Given the description of an element on the screen output the (x, y) to click on. 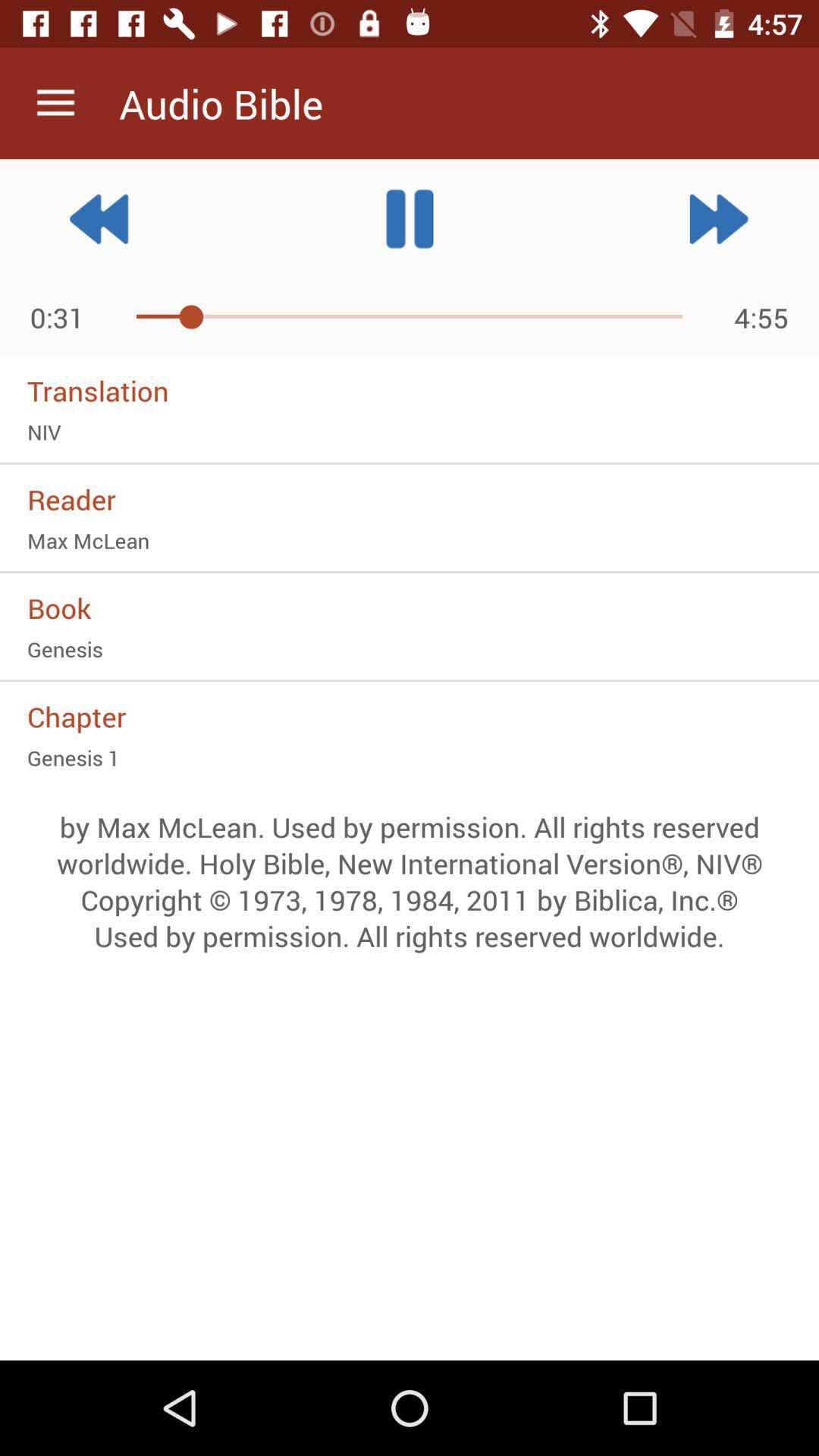
turn on the item above the niv icon (409, 390)
